Given the description of an element on the screen output the (x, y) to click on. 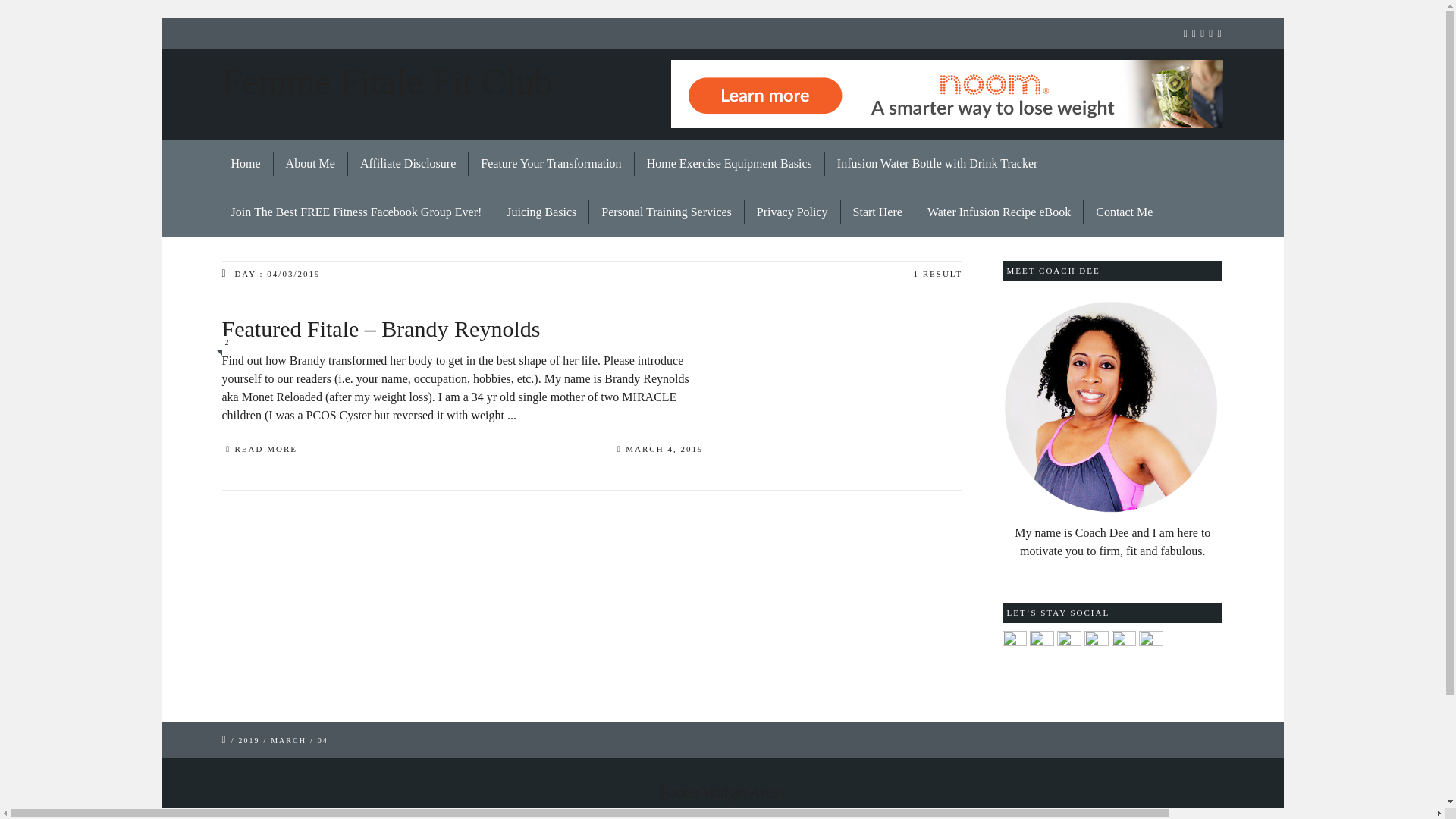
Privacy Policy (792, 211)
Pinterest (1069, 641)
Facebook (1014, 641)
04 (323, 740)
2019 (248, 740)
Personal Training Services (666, 211)
Affiliate Disclosure (407, 163)
Feature Your Transformation (550, 163)
Instagram (1041, 641)
Home (245, 163)
Water Infusion Recipe eBook (999, 211)
About Me (310, 163)
Join The Best FREE Fitness Facebook Group Ever! (356, 211)
Twitter (1150, 641)
Start Here (878, 211)
